Given the description of an element on the screen output the (x, y) to click on. 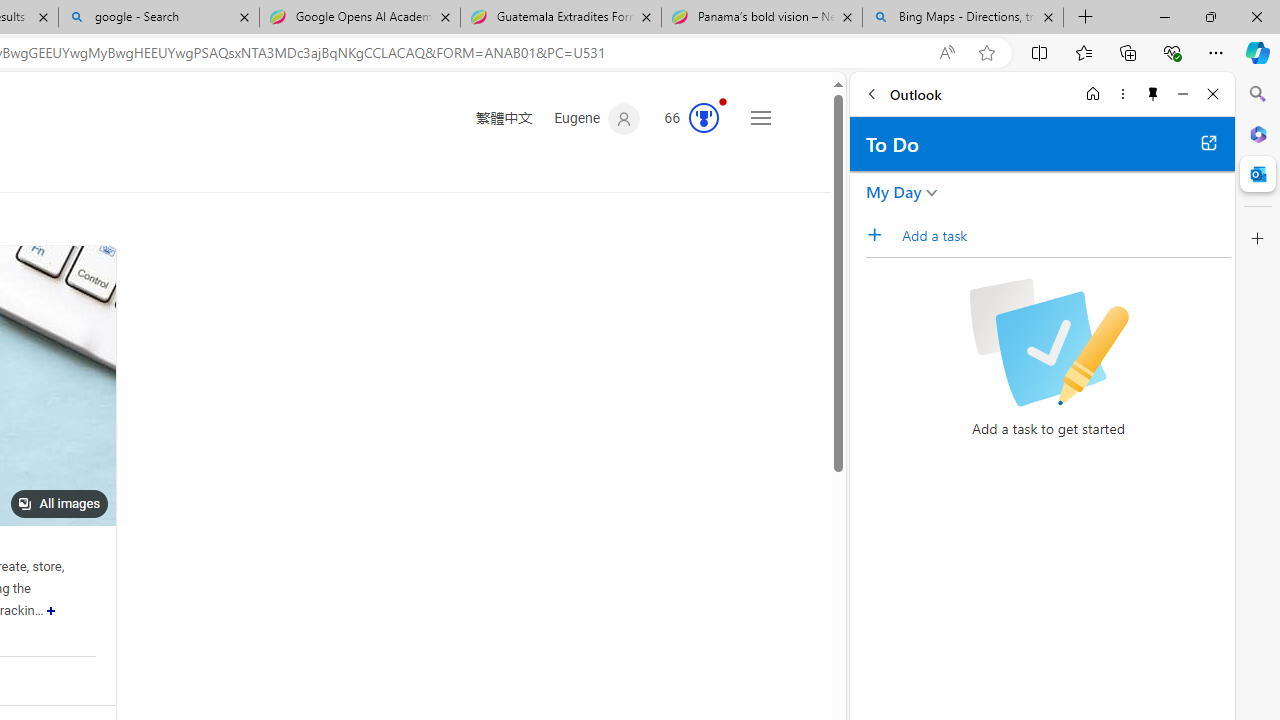
Add a task (1065, 235)
AutomationID: rh_meter (703, 117)
My Day (893, 191)
